Given the description of an element on the screen output the (x, y) to click on. 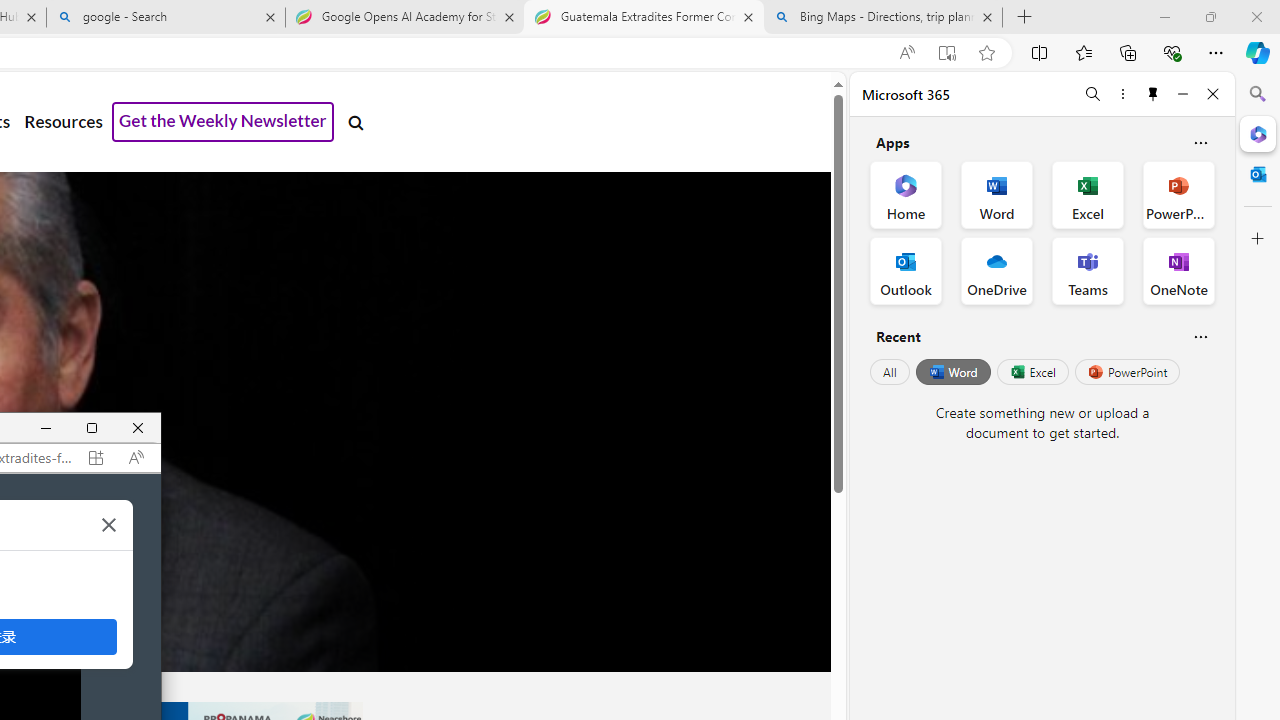
Get the Weekly Newsletter (223, 121)
